Given the description of an element on the screen output the (x, y) to click on. 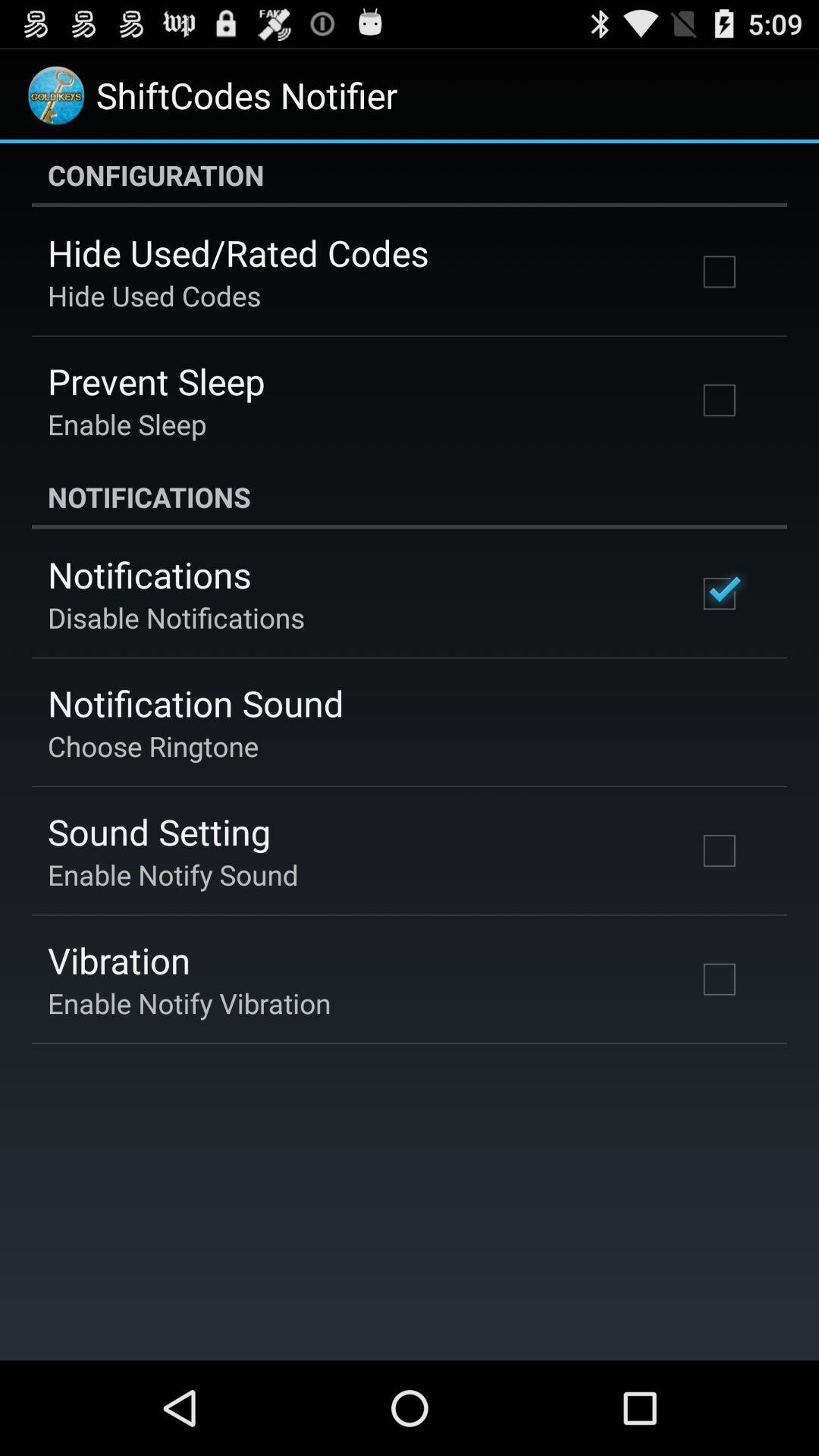
tap the icon below prevent sleep icon (126, 424)
